Given the description of an element on the screen output the (x, y) to click on. 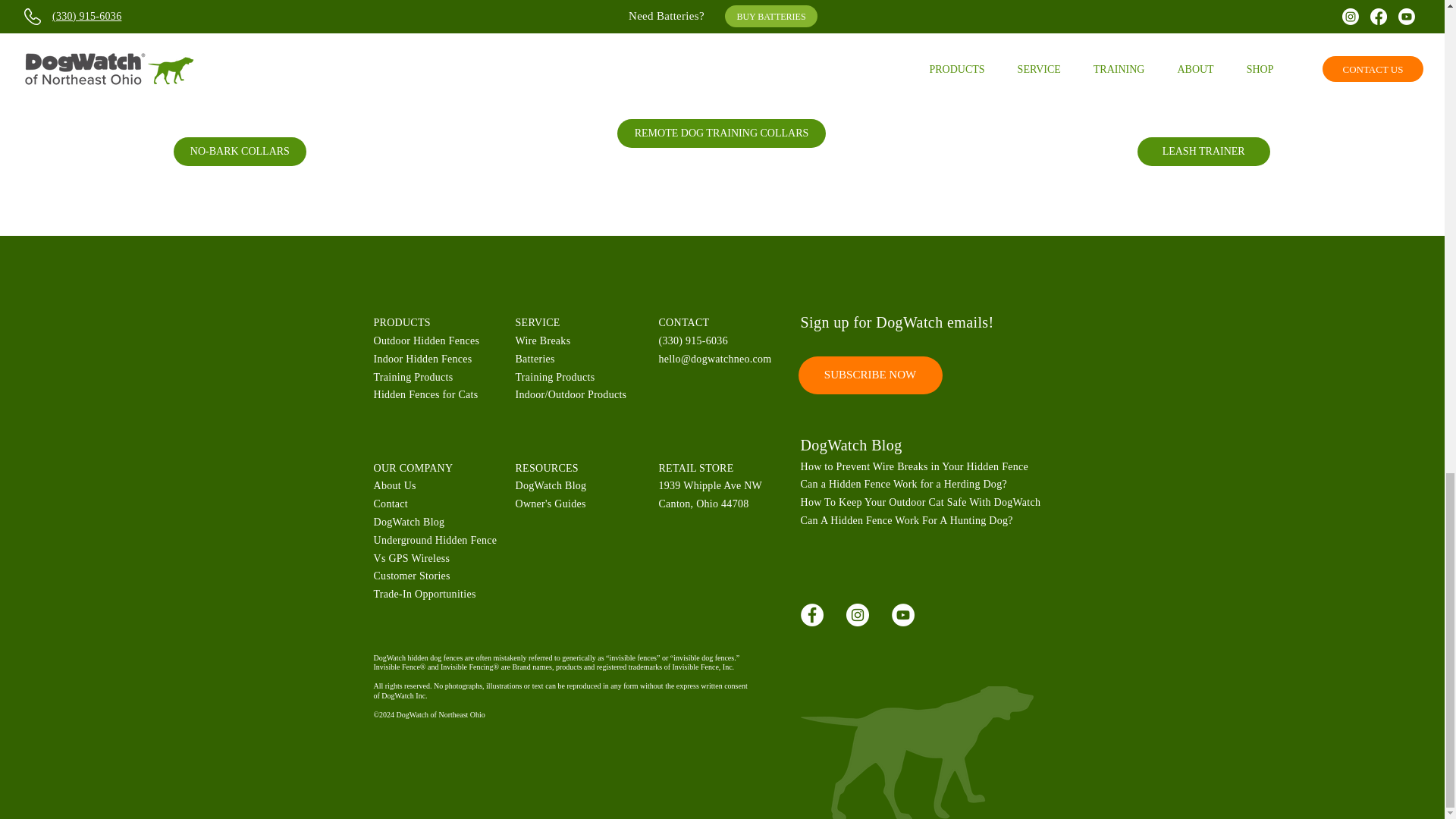
Wire Breaks (542, 340)
Indoor Hidden Fences (421, 358)
NO-BARK COLLARS (239, 151)
Hidden Fences for Cats (424, 394)
Training Products (555, 377)
LEASH TRAINER (1203, 151)
REMOTE DOG TRAINING COLLARS (721, 133)
Underground Hidden Fence Vs GPS Wireless (434, 549)
Contact (389, 503)
Training Products (412, 377)
